Given the description of an element on the screen output the (x, y) to click on. 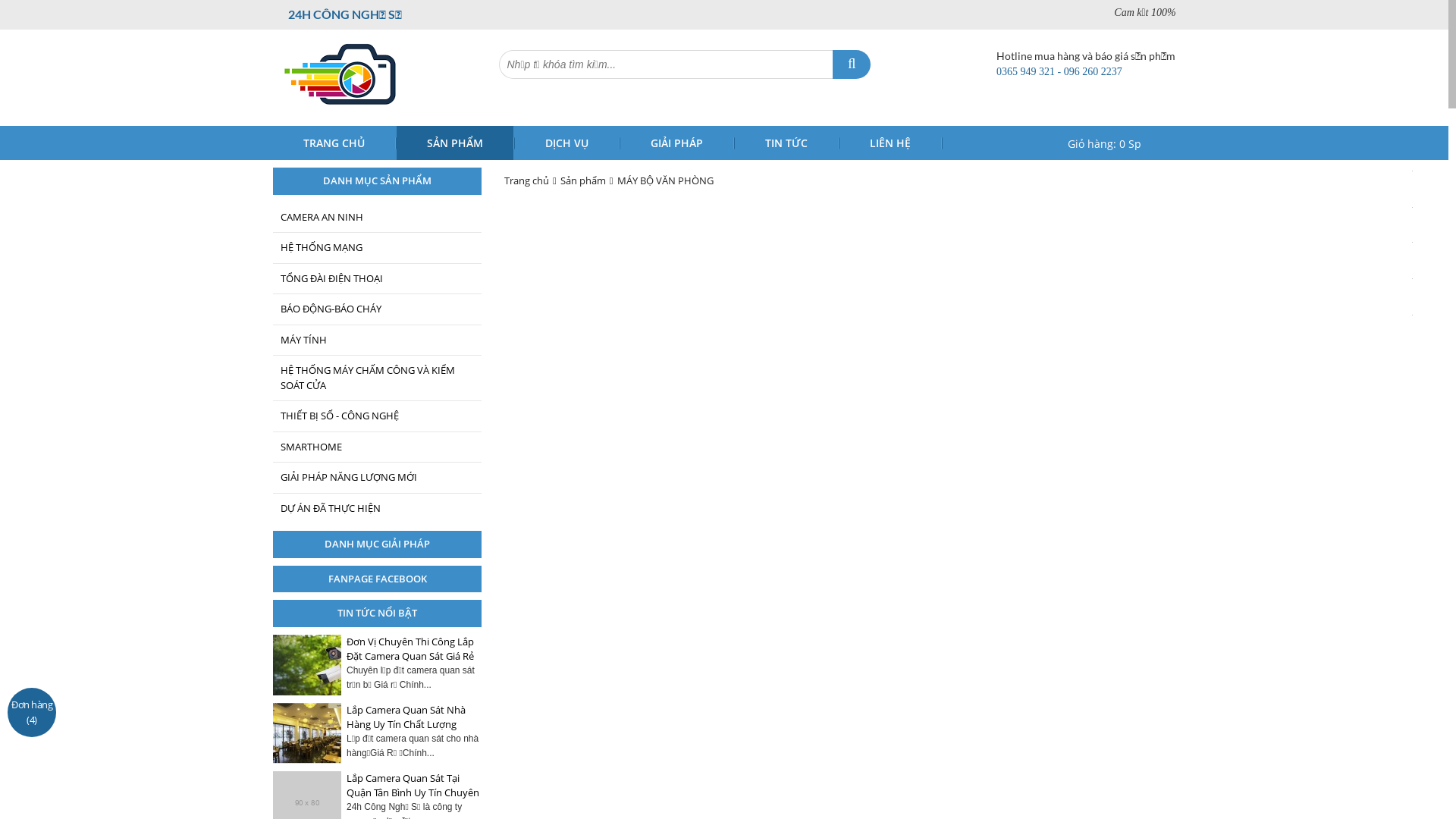
SMARTHOME Element type: text (377, 447)
CAMERA AN NINH Element type: text (377, 216)
